Given the description of an element on the screen output the (x, y) to click on. 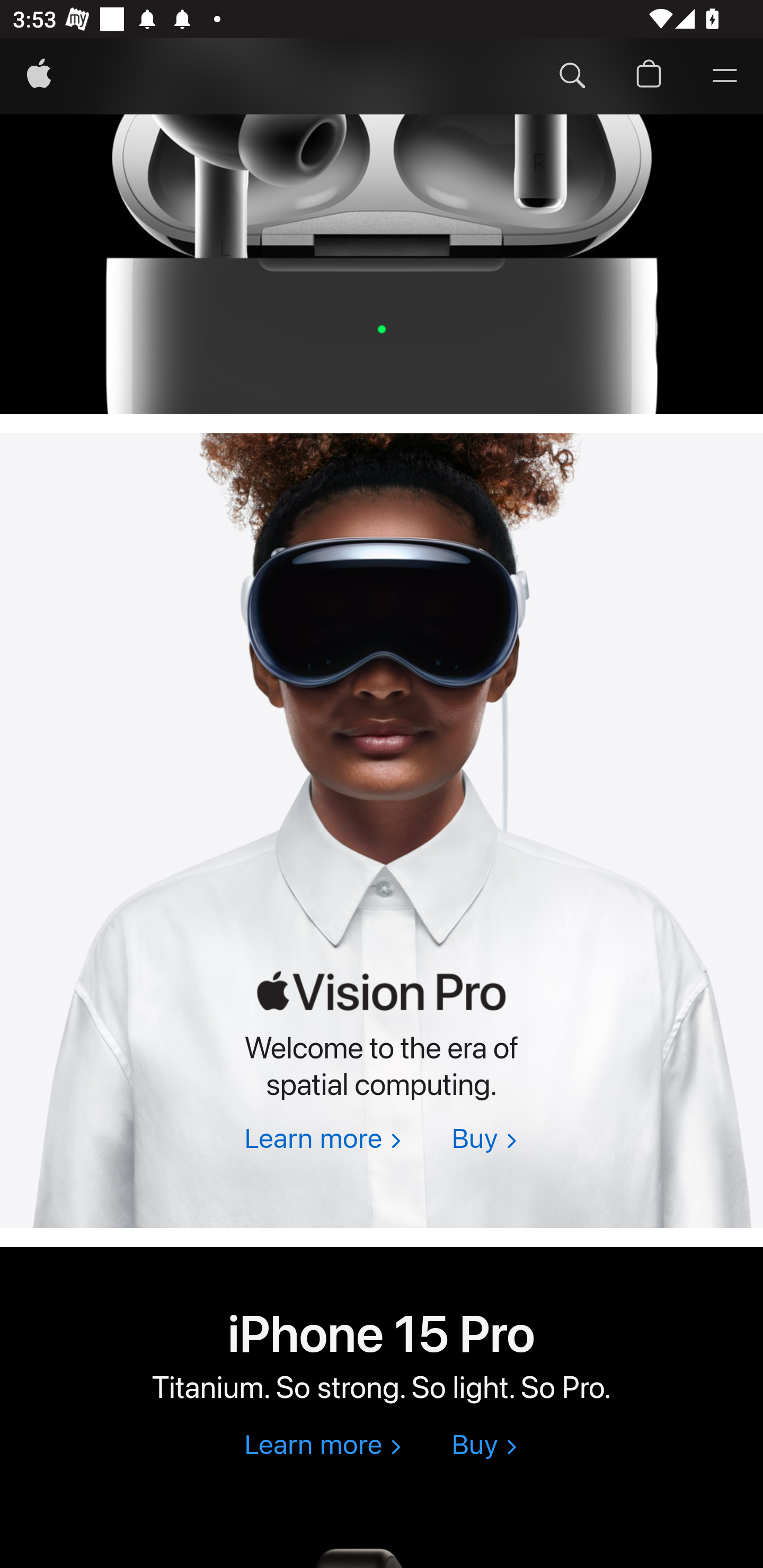
Apple (38, 76)
Search apple.com (572, 76)
Shopping Bag (648, 76)
Menu (724, 76)
Learn more about Apple Vision Pro Learn more  (322, 1140)
Buy Apple Vision Pro Buy  (484, 1140)
Learn more about iPhone 15 Pro Learn more  (322, 1446)
Buy iPhone 15 Pro Buy  (484, 1446)
